Given the description of an element on the screen output the (x, y) to click on. 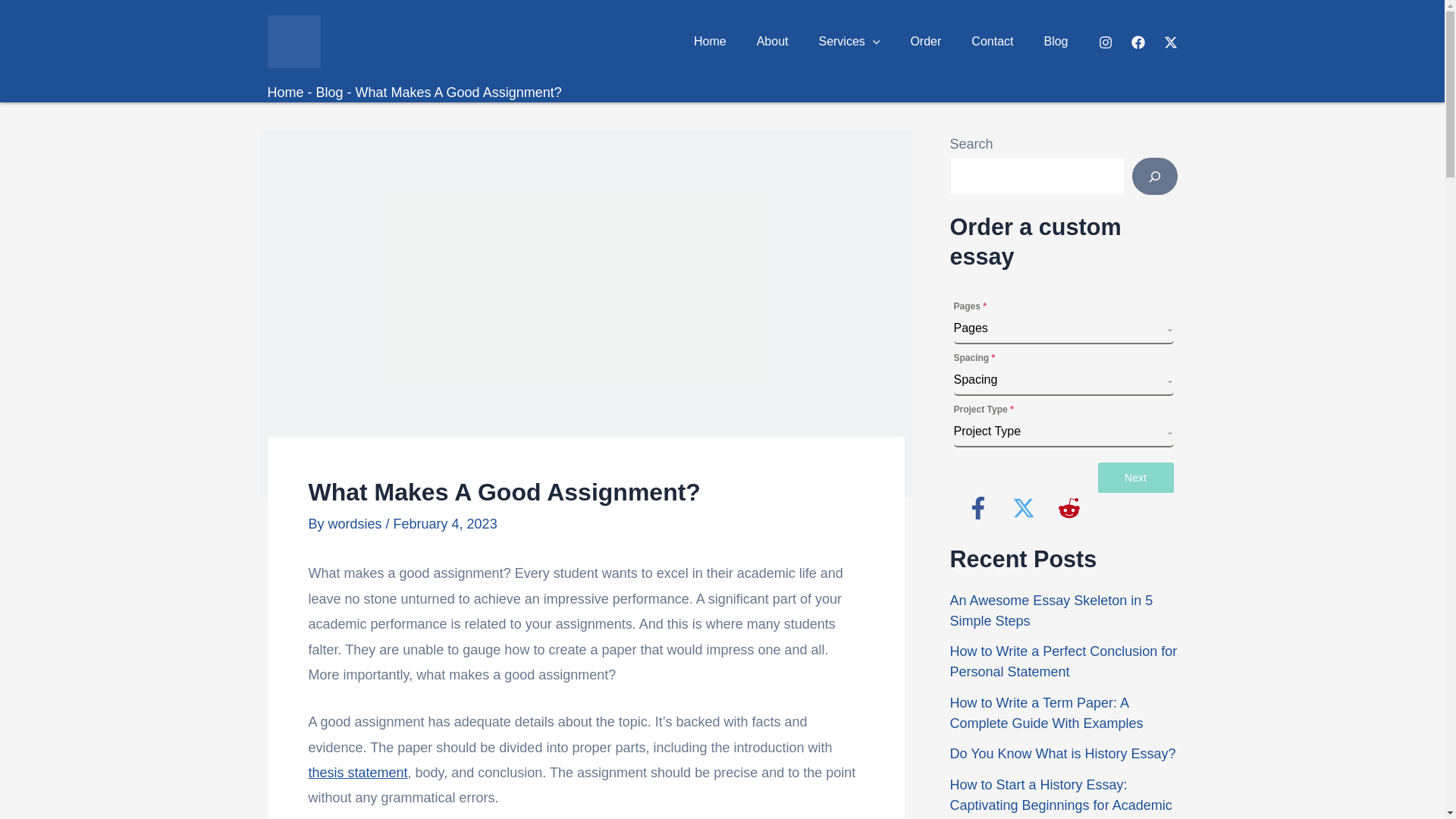
Contact (991, 41)
Services (849, 41)
View all posts by wordsies (357, 523)
Blog (1055, 41)
Spacing (1059, 379)
wordsies (357, 523)
Pages (1059, 328)
thesis statement (357, 772)
Home (709, 41)
Blog (329, 92)
About (772, 41)
Home (284, 92)
Project Type (1059, 430)
Order (925, 41)
